Given the description of an element on the screen output the (x, y) to click on. 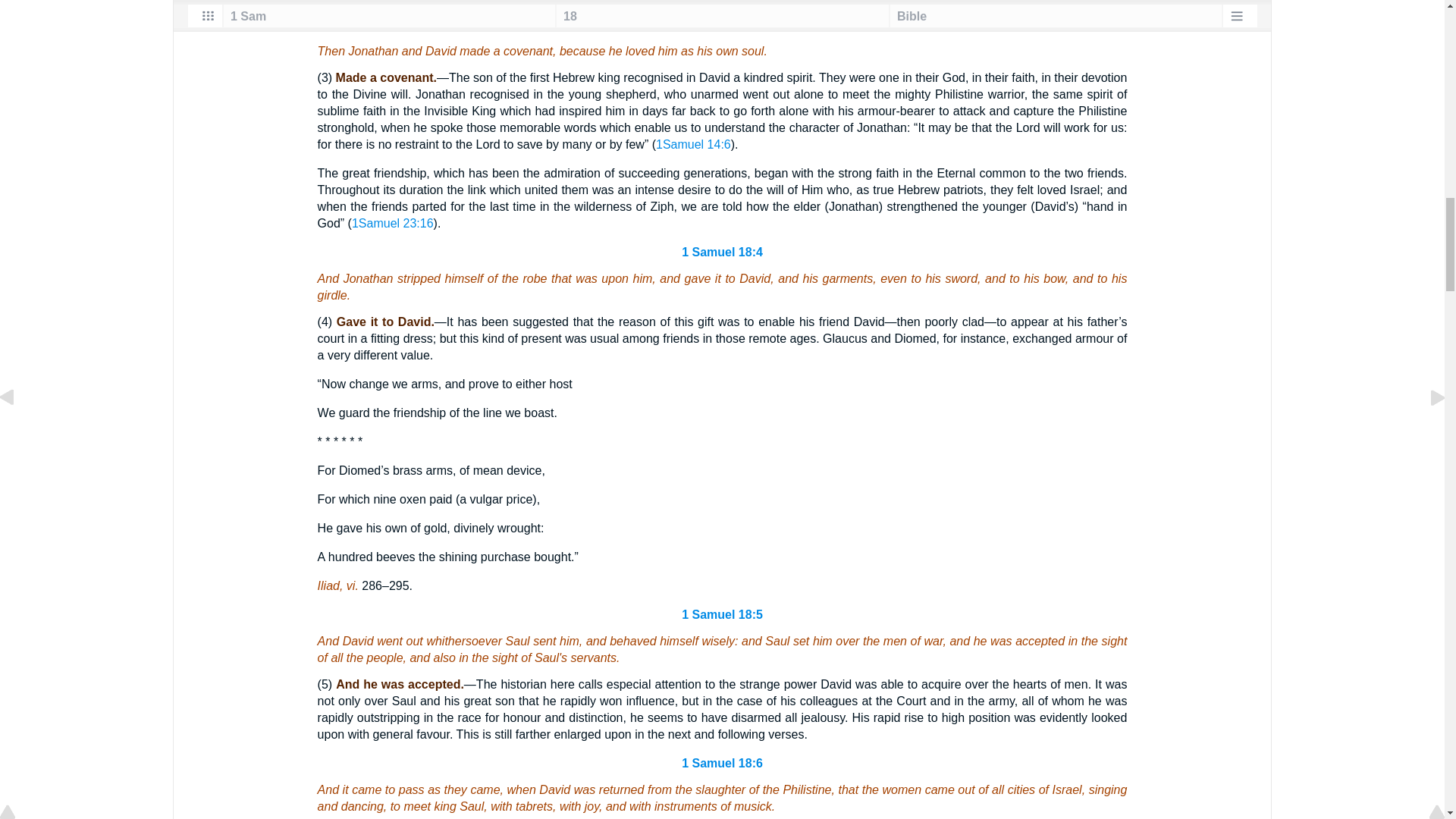
1 Samuel 18:5 (721, 614)
1Samuel 23:16 (392, 223)
1Samuel 14:6 (693, 144)
1 Samuel 18:4 (721, 251)
1 Samuel 18:6 (721, 762)
1 Samuel 18:3 (721, 24)
